Given the description of an element on the screen output the (x, y) to click on. 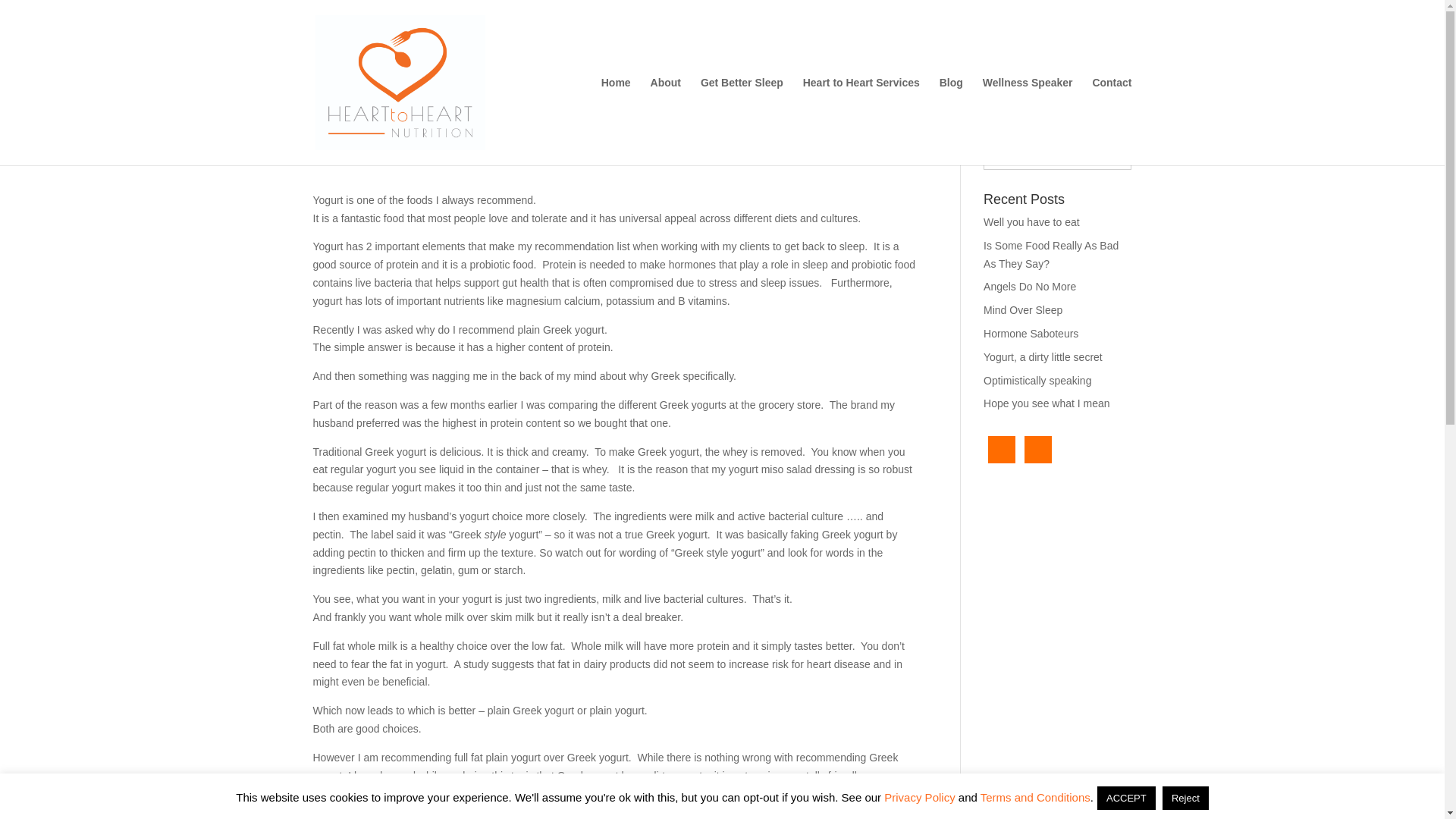
ACCEPT (1126, 797)
Yogurt, a dirty little secret (1043, 357)
Privacy Policy (919, 797)
Heart to Heart Services (861, 120)
Nutritional (495, 143)
Get Better Sleep (741, 120)
Wellness Speaker (1027, 120)
Reject (1184, 797)
Angels Do No More (1029, 286)
Caryl Ayearst (358, 143)
